Given the description of an element on the screen output the (x, y) to click on. 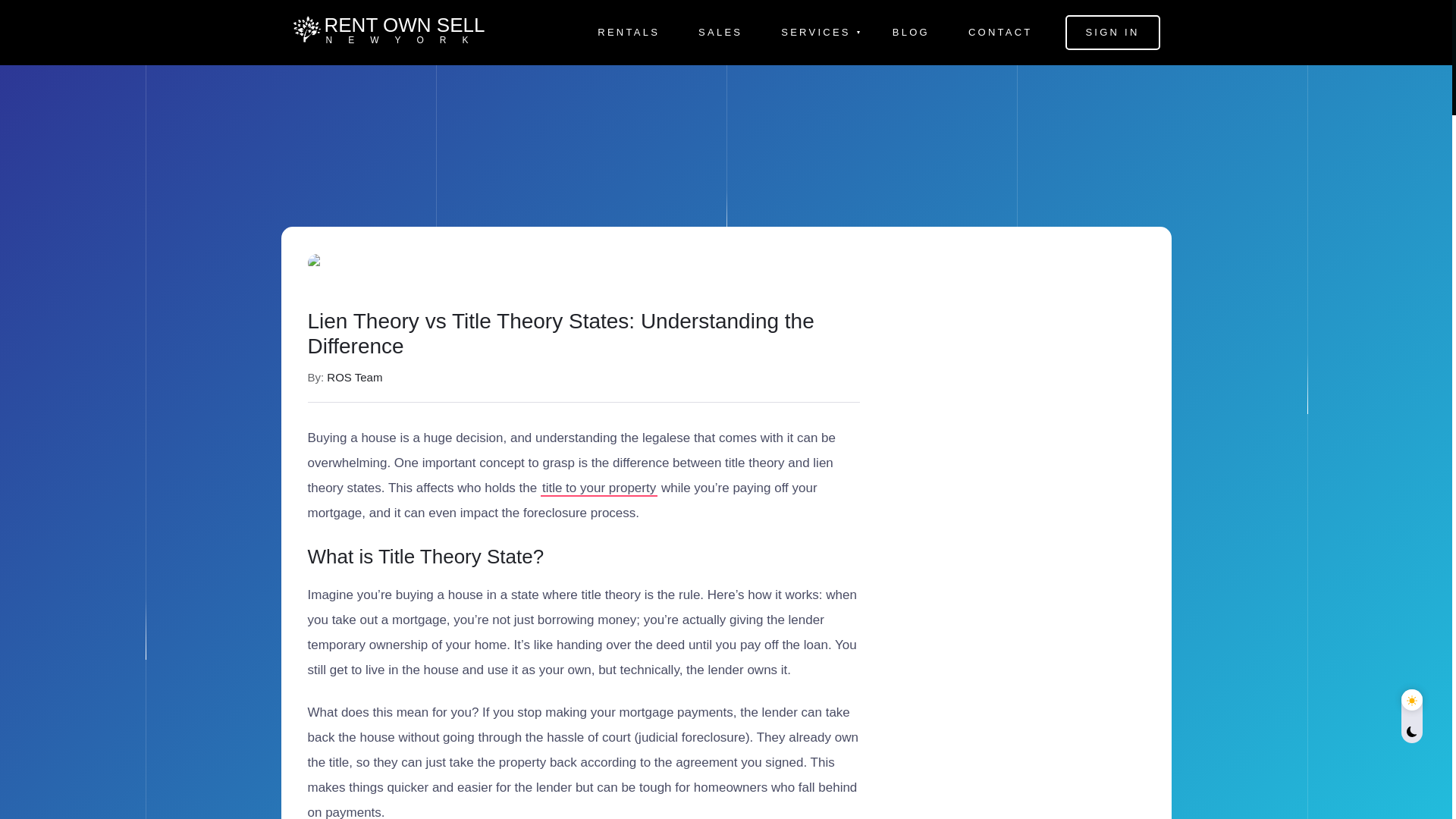
SERVICES (817, 32)
title to your property (383, 32)
SIGN IN (599, 487)
RENTALS (1111, 32)
CONTACT (628, 32)
